Given the description of an element on the screen output the (x, y) to click on. 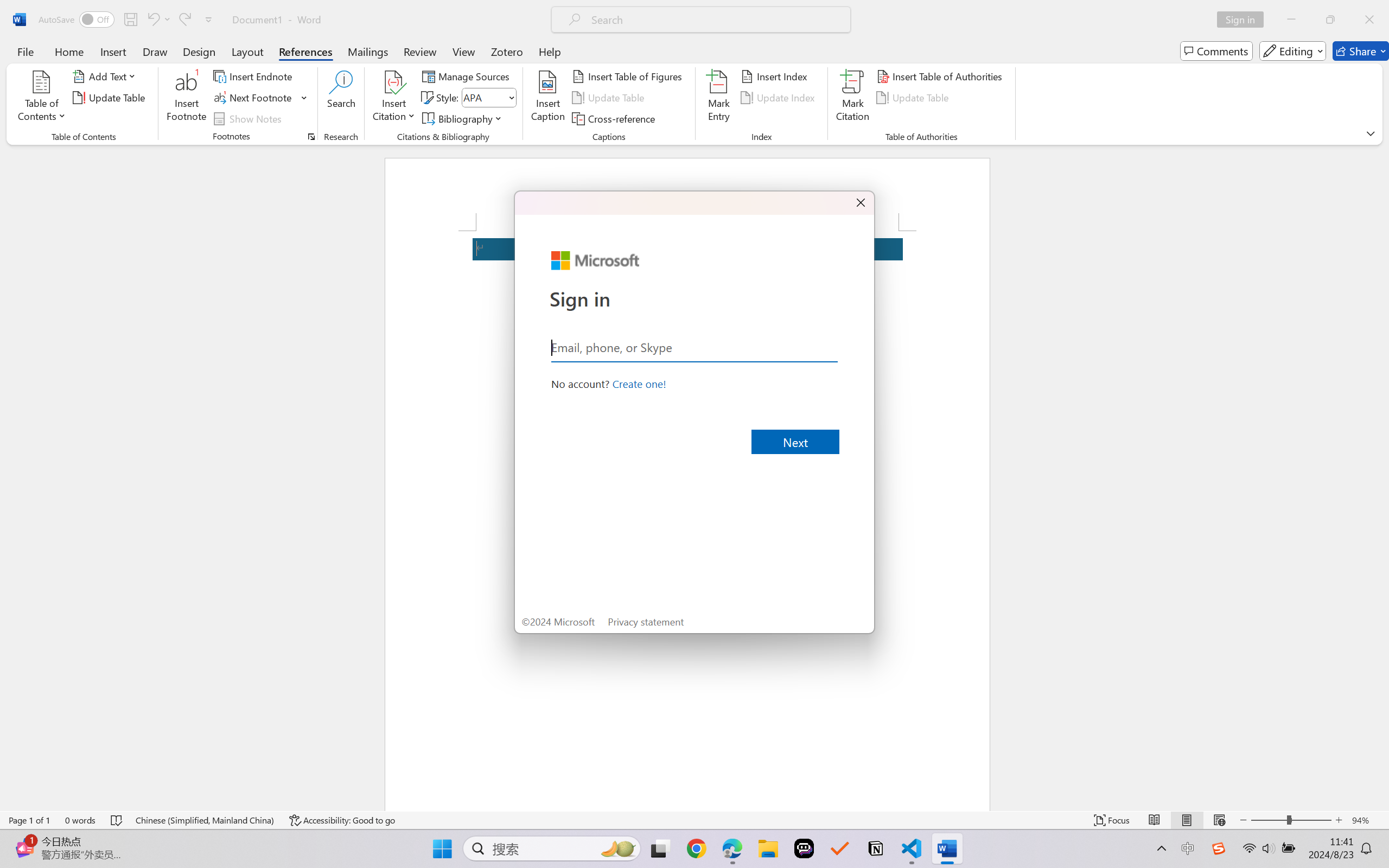
Editing (1292, 50)
Undo Apply Quick Style Set (152, 19)
Insert Table of Authorities... (941, 75)
